Given the description of an element on the screen output the (x, y) to click on. 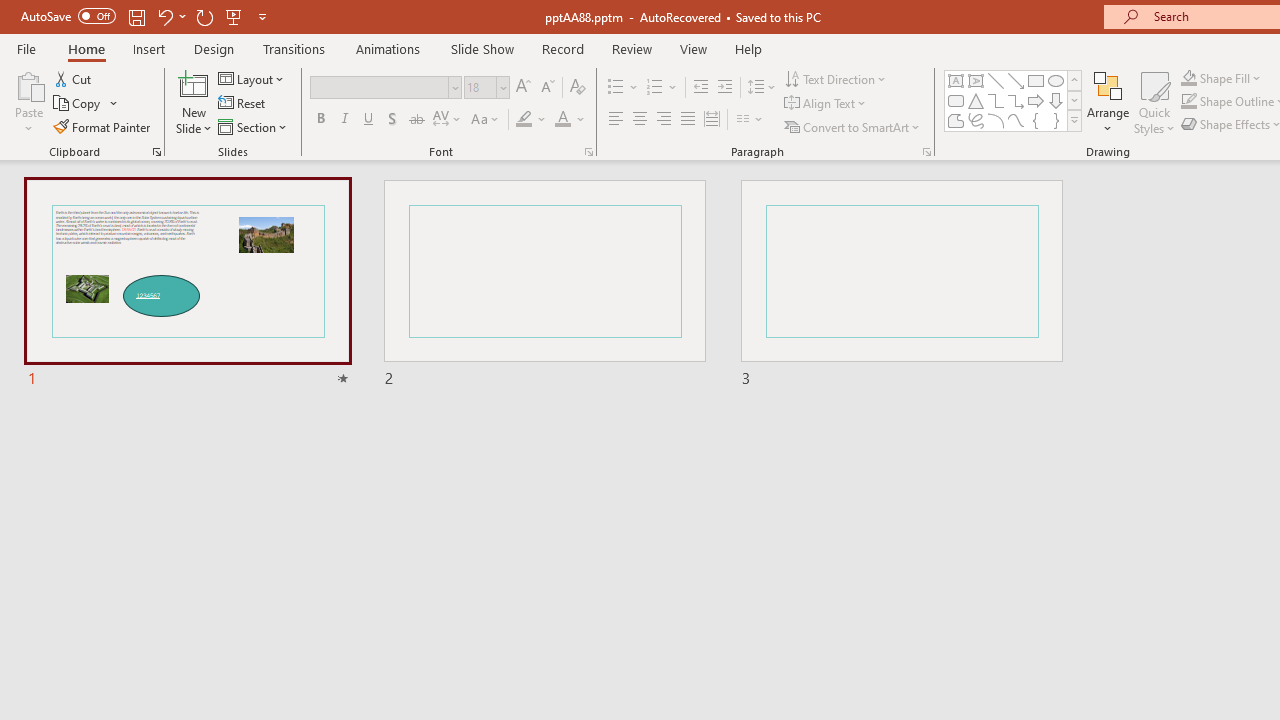
Shadow (392, 119)
Arrange (1108, 102)
Underline (369, 119)
Right Brace (1055, 120)
Freeform: Scribble (975, 120)
Text Direction (836, 78)
Character Spacing (447, 119)
Bold (320, 119)
Font Color (569, 119)
Bullets (616, 87)
Font Color Red (562, 119)
